Given the description of an element on the screen output the (x, y) to click on. 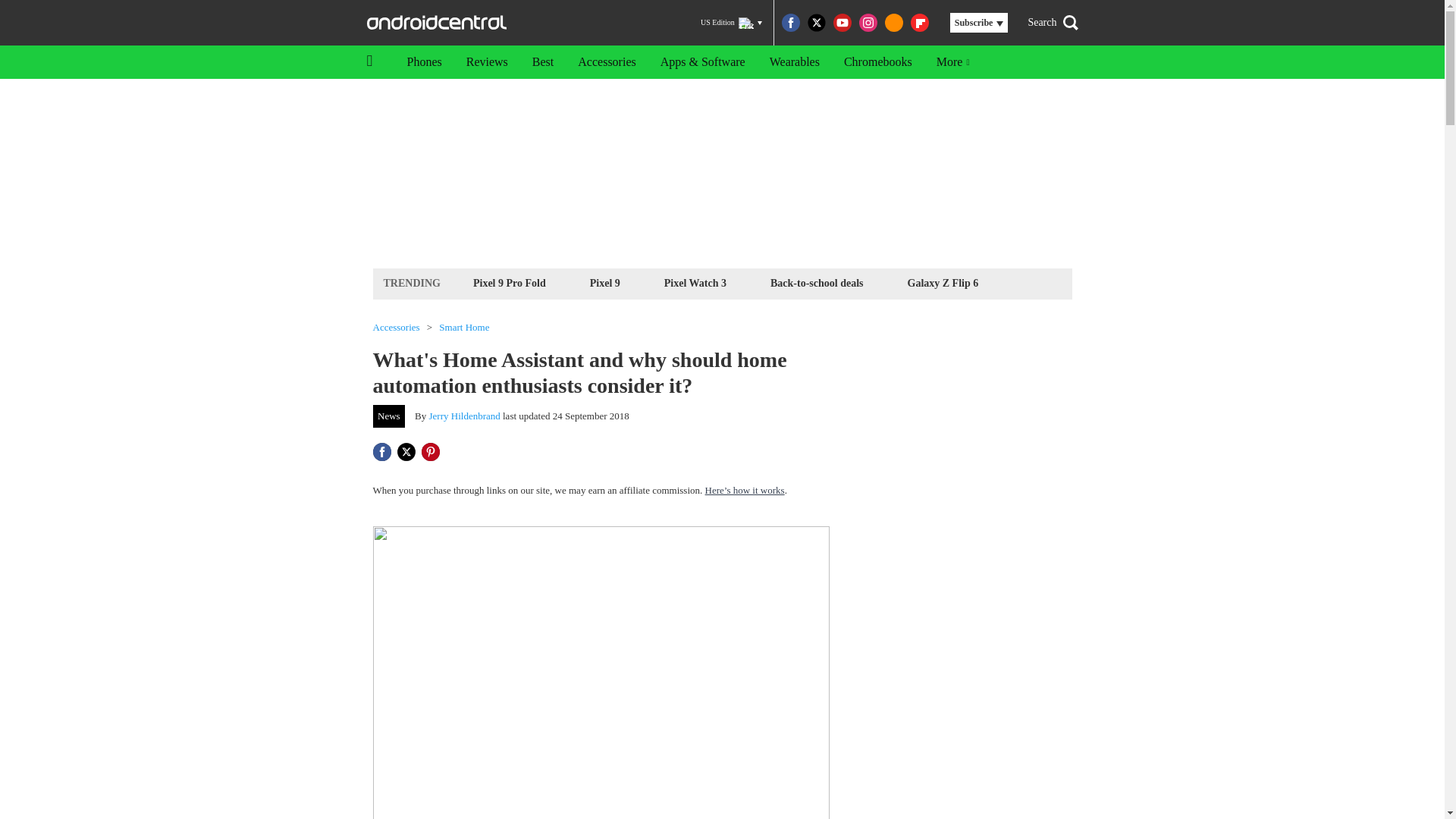
Pixel Watch 3 (695, 282)
Accessories (396, 327)
Reviews (486, 61)
Pixel 9 Pro Fold (509, 282)
Chromebooks (877, 61)
Jerry Hildenbrand (464, 415)
Back-to-school deals (817, 282)
Smart Home (464, 327)
News (389, 415)
Wearables (794, 61)
